Given the description of an element on the screen output the (x, y) to click on. 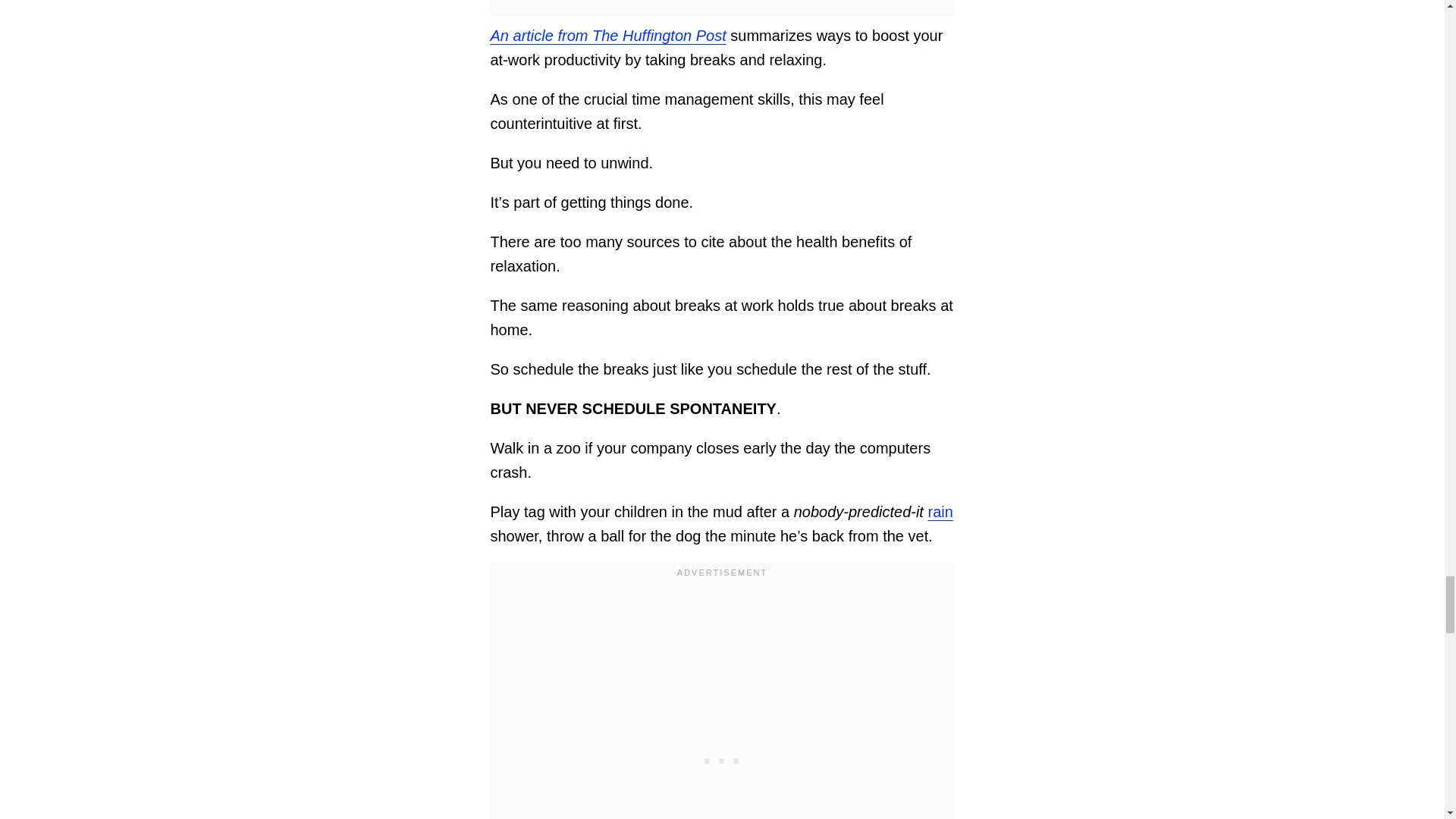
rain (940, 511)
rain (940, 511)
An article from The Huffington Post (607, 35)
